Given the description of an element on the screen output the (x, y) to click on. 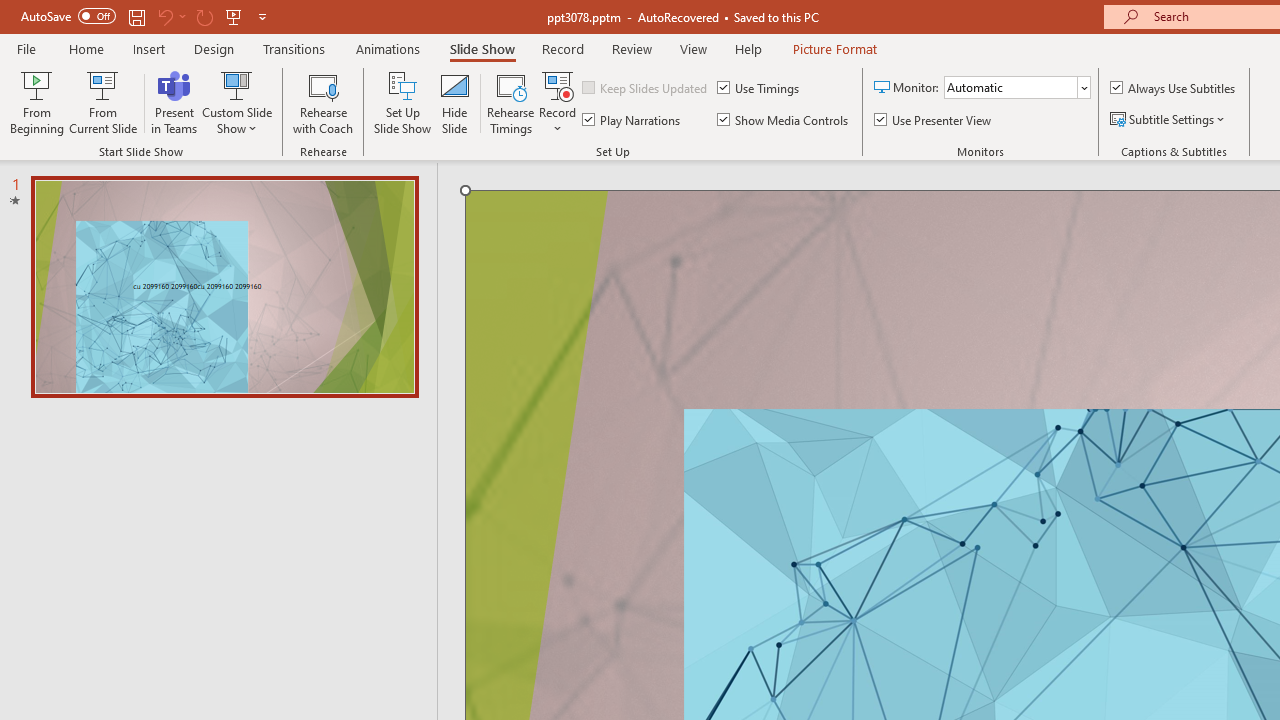
Rehearse Timings (511, 102)
Hide Slide (454, 102)
Custom Slide Show (237, 102)
Use Timings (760, 87)
Monitor (1017, 87)
Always Use Subtitles (1174, 87)
Keep Slides Updated (646, 87)
